Given the description of an element on the screen output the (x, y) to click on. 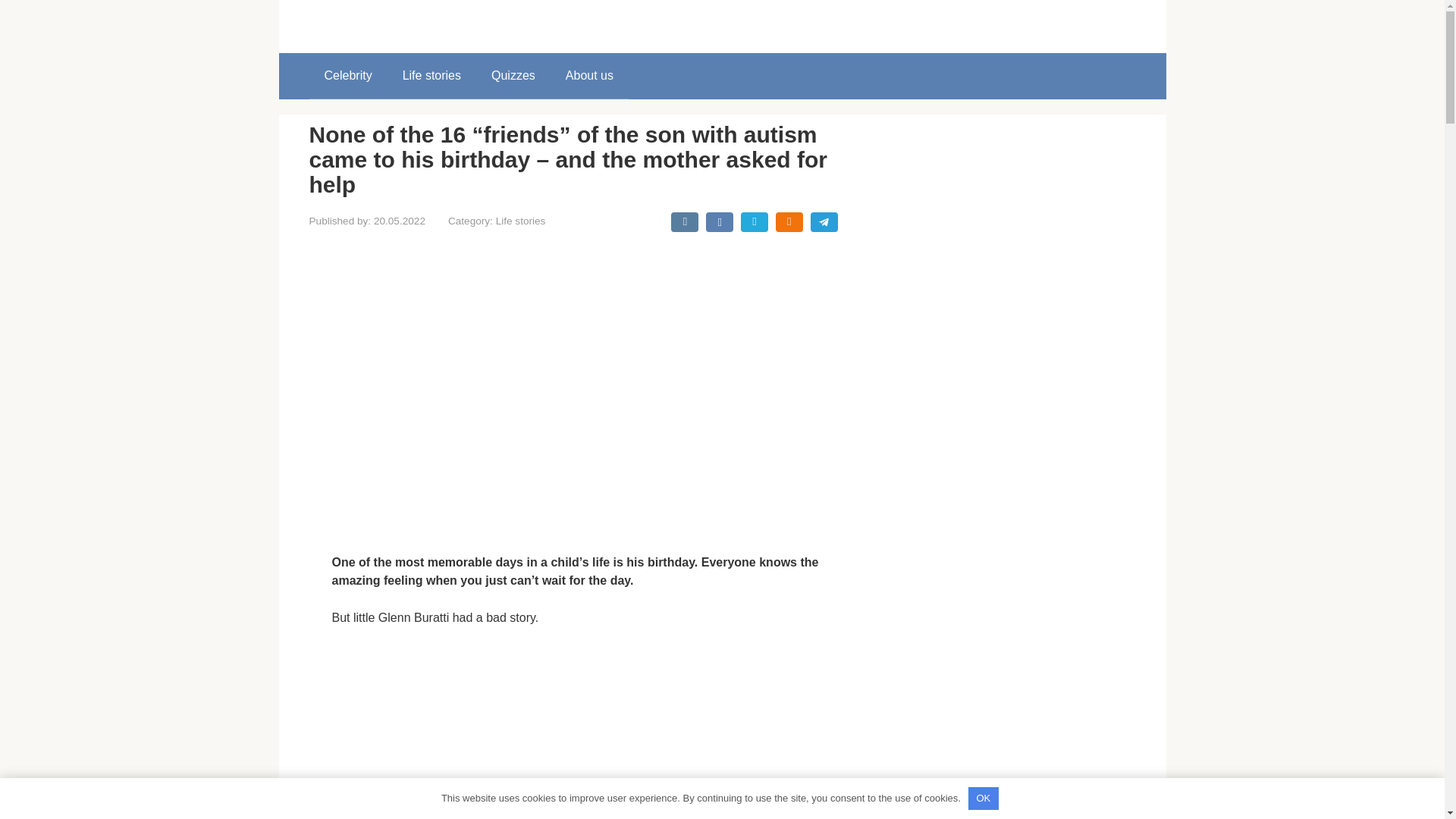
Life stories (521, 220)
About us (589, 75)
Celebrity (347, 75)
OK (983, 798)
Life stories (431, 75)
Quizzes (513, 75)
